Given the description of an element on the screen output the (x, y) to click on. 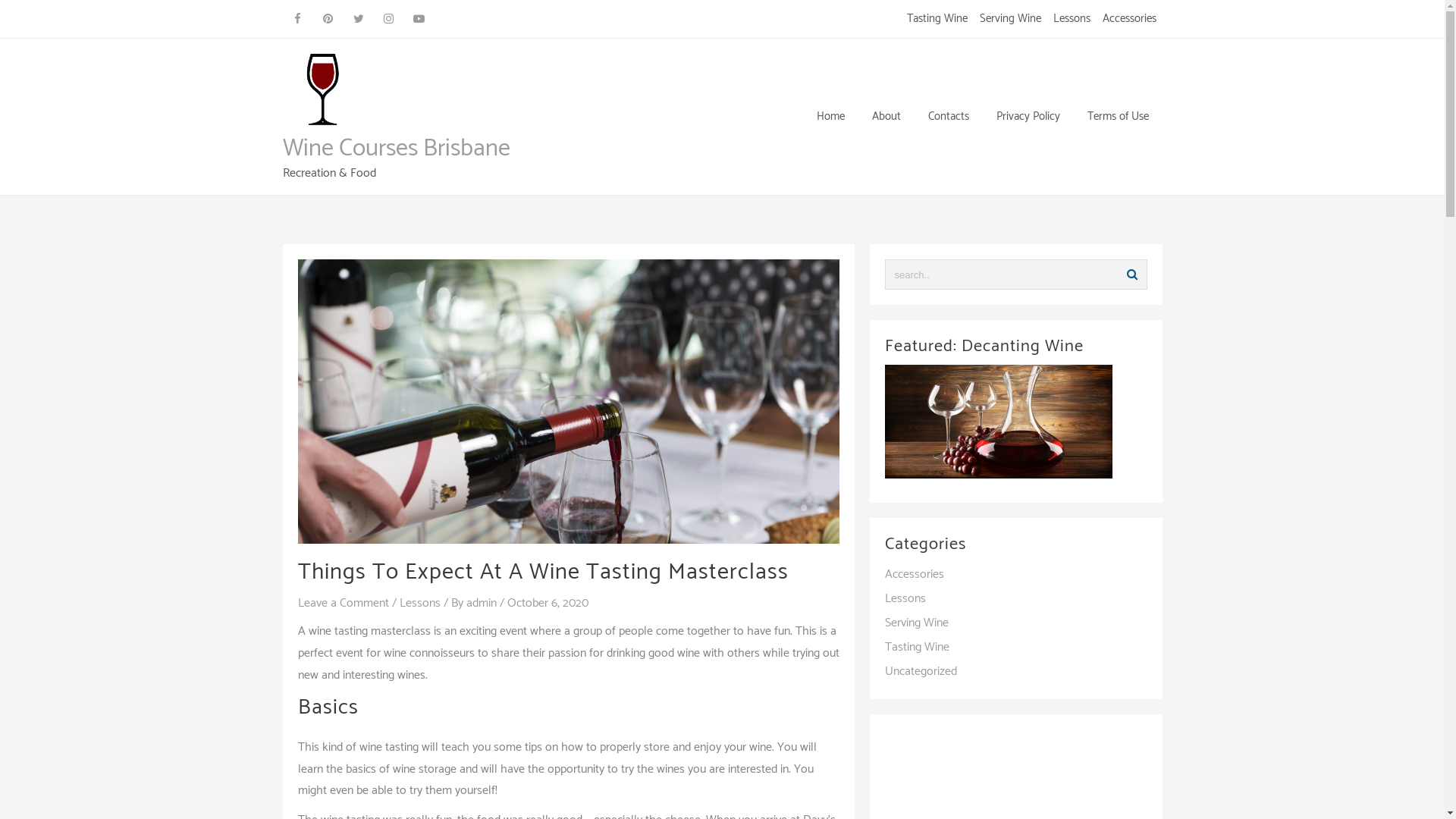
Terms of Use Element type: text (1117, 116)
Accessories Element type: text (913, 574)
Lessons Element type: text (1070, 18)
Accessories Element type: text (1129, 18)
Leave a Comment Element type: text (342, 603)
admin Element type: text (481, 603)
Uncategorized Element type: text (920, 671)
Home Element type: text (829, 116)
Tasting Wine Element type: text (916, 647)
Privacy Policy Element type: text (1027, 116)
Serving Wine Element type: text (1010, 18)
About Element type: text (886, 116)
Serving Wine Element type: text (915, 622)
Tasting Wine Element type: text (936, 18)
Contacts Element type: text (948, 116)
Search Element type: text (1131, 274)
Lessons Element type: text (418, 603)
Lessons Element type: text (904, 598)
Wine Courses Brisbane Element type: text (395, 148)
